Given the description of an element on the screen output the (x, y) to click on. 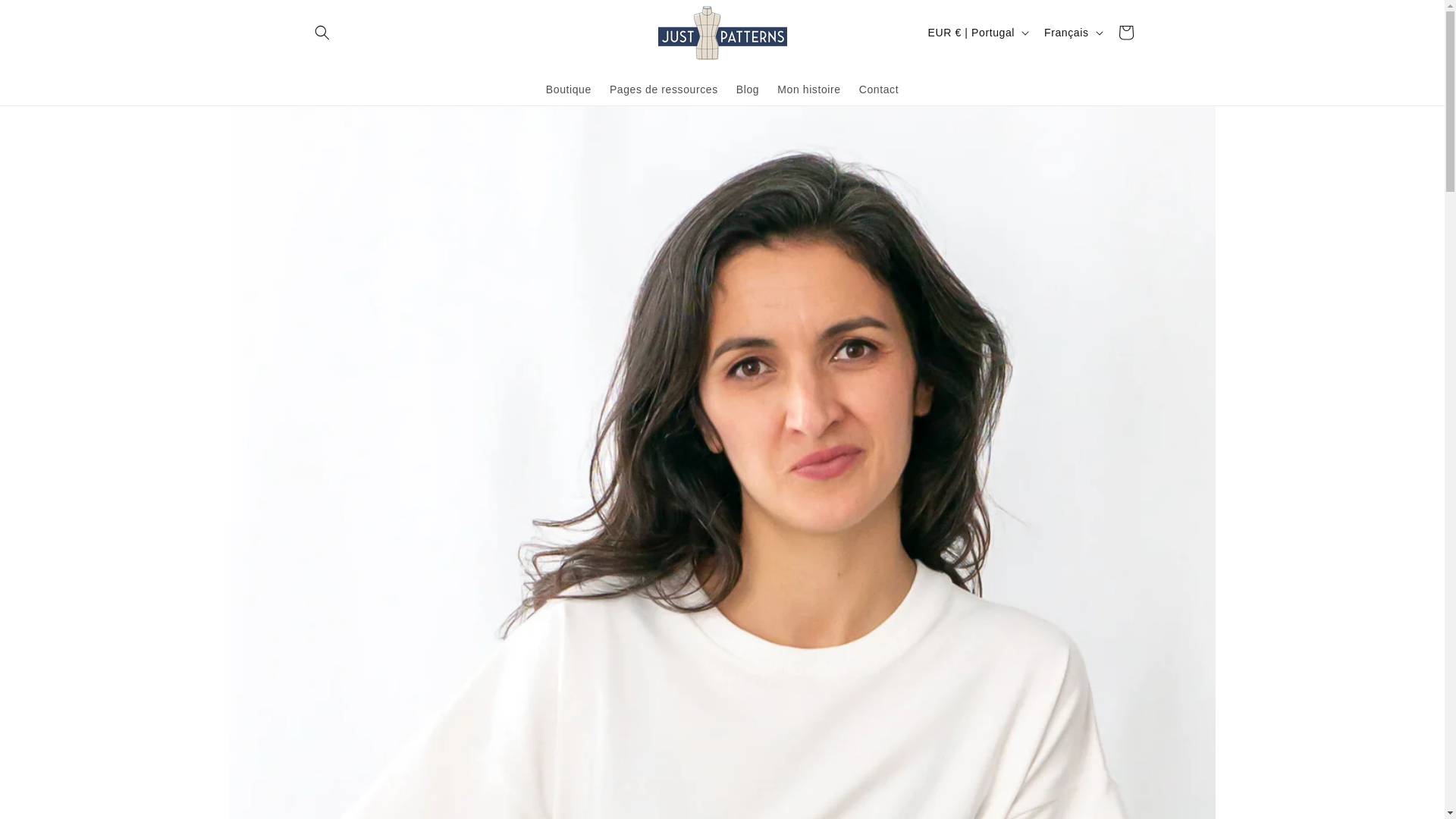
Boutique (568, 88)
Pages de ressources (662, 88)
Contact (878, 88)
Mon histoire (808, 88)
Panier (1124, 32)
Blog (747, 88)
Ignorer et passer au contenu (45, 17)
